Given the description of an element on the screen output the (x, y) to click on. 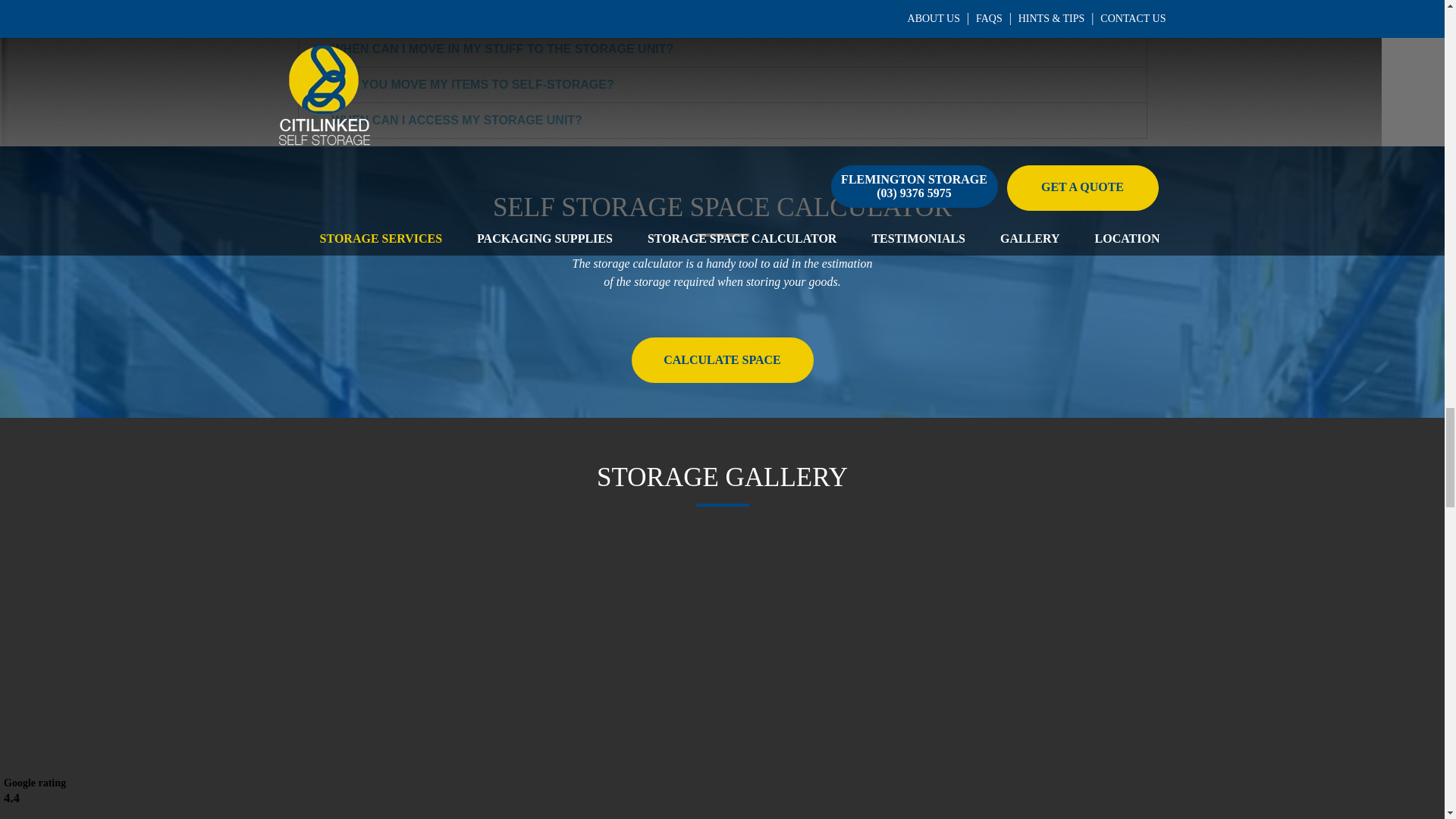
CAN YOU MOVE MY ITEMS TO SELF-STORAGE? (472, 83)
Calculate Space (721, 360)
WHEN CAN I MOVE IN MY STUFF TO THE STORAGE UNIT? (502, 48)
DO I NEED TO BOOK IN ADVANCE TO GET A STORAGE SPACE? (518, 12)
